Given the description of an element on the screen output the (x, y) to click on. 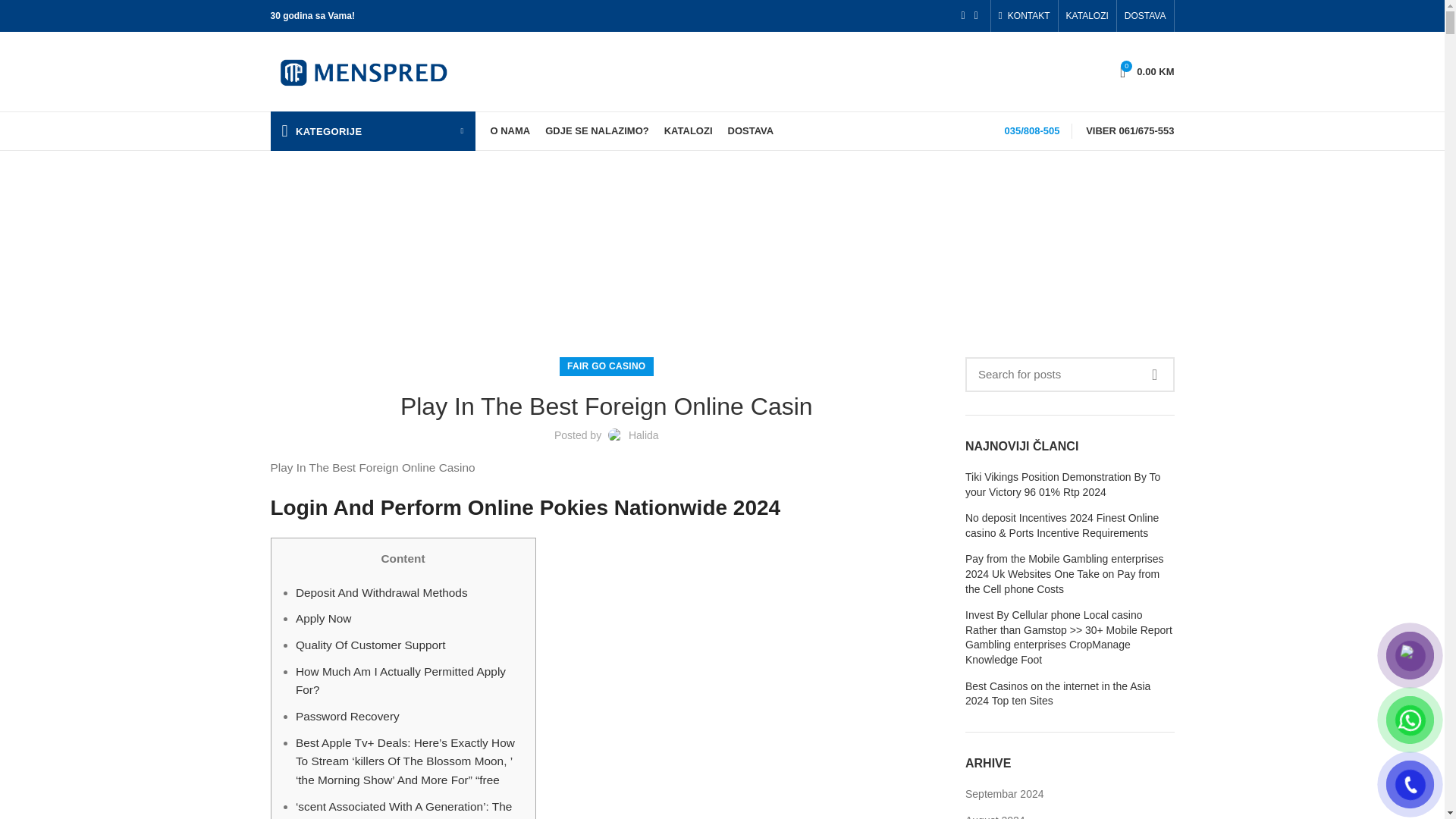
Search for posts (1069, 374)
DOSTAVA (1146, 71)
KONTAKT (1144, 15)
KATALOZI (1024, 15)
